Given the description of an element on the screen output the (x, y) to click on. 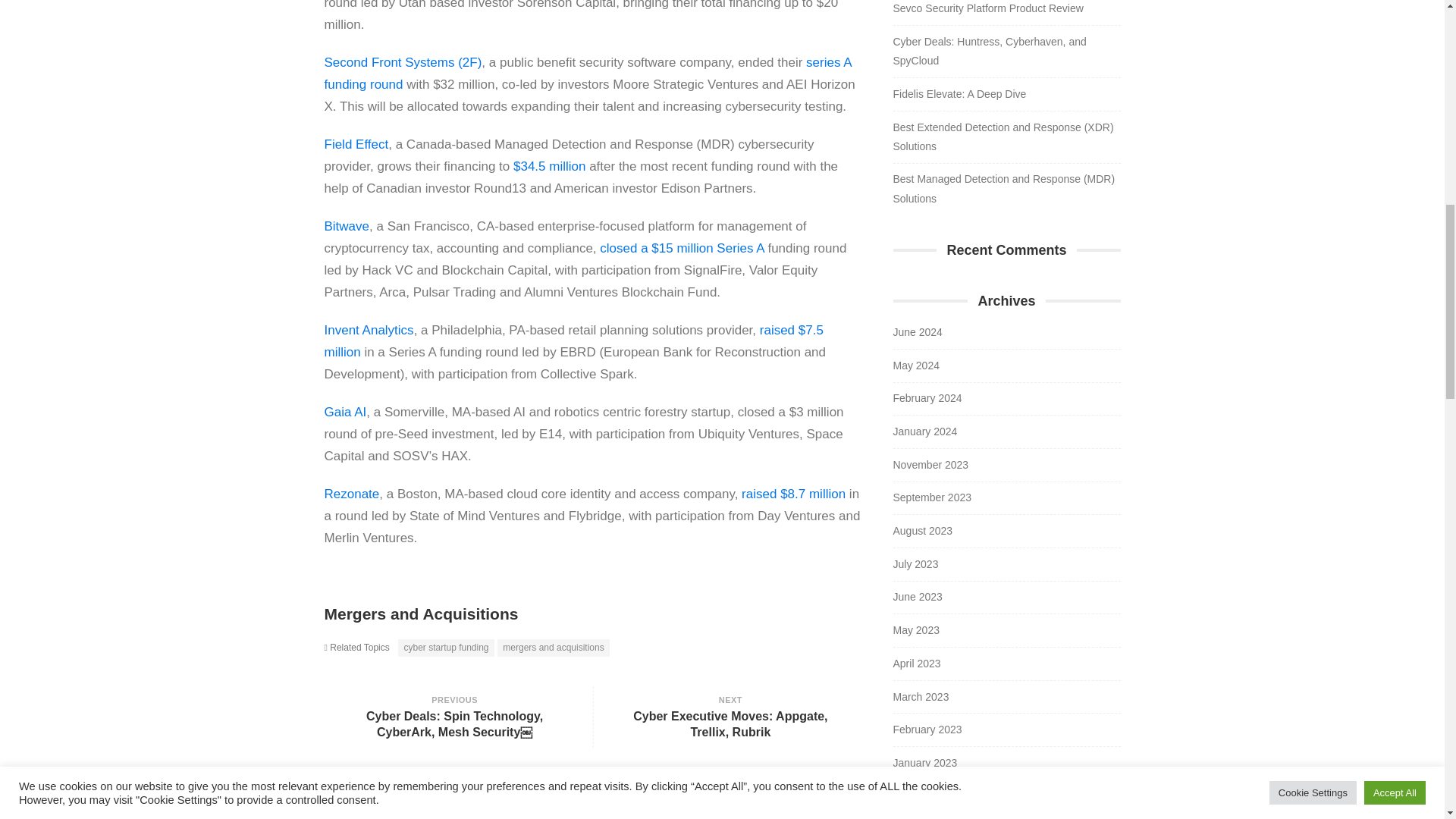
Gaia AI (345, 411)
cyber startup funding (446, 647)
Field Effect (356, 144)
series A funding round (587, 73)
Bitwave (346, 226)
Invent Analytics (368, 329)
Rezonate (352, 493)
